Given the description of an element on the screen output the (x, y) to click on. 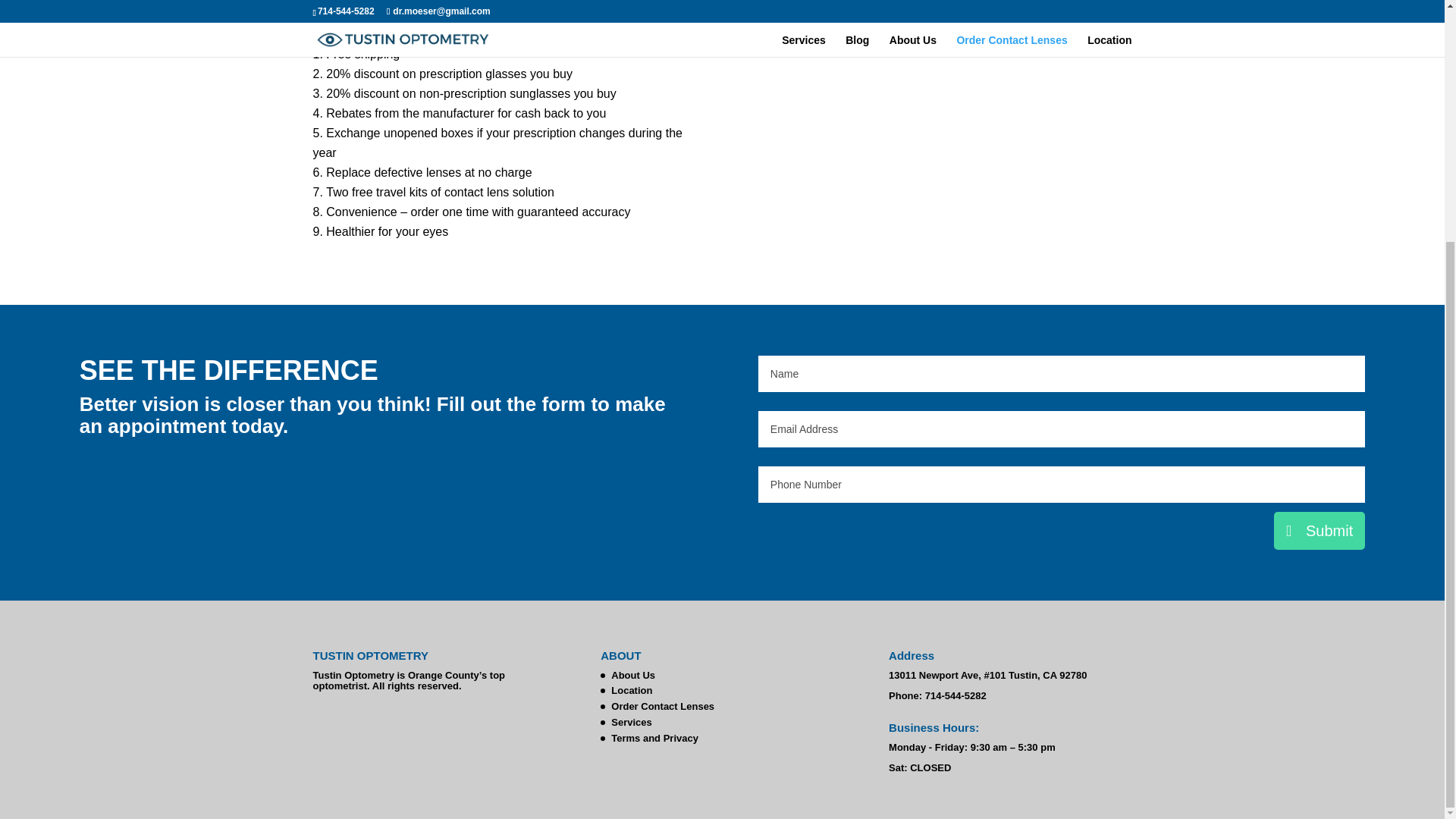
Order Contact Lenses (662, 706)
Terms and Privacy (654, 737)
Services (631, 722)
About Us (633, 674)
Submit (1319, 530)
Location (631, 690)
